Given the description of an element on the screen output the (x, y) to click on. 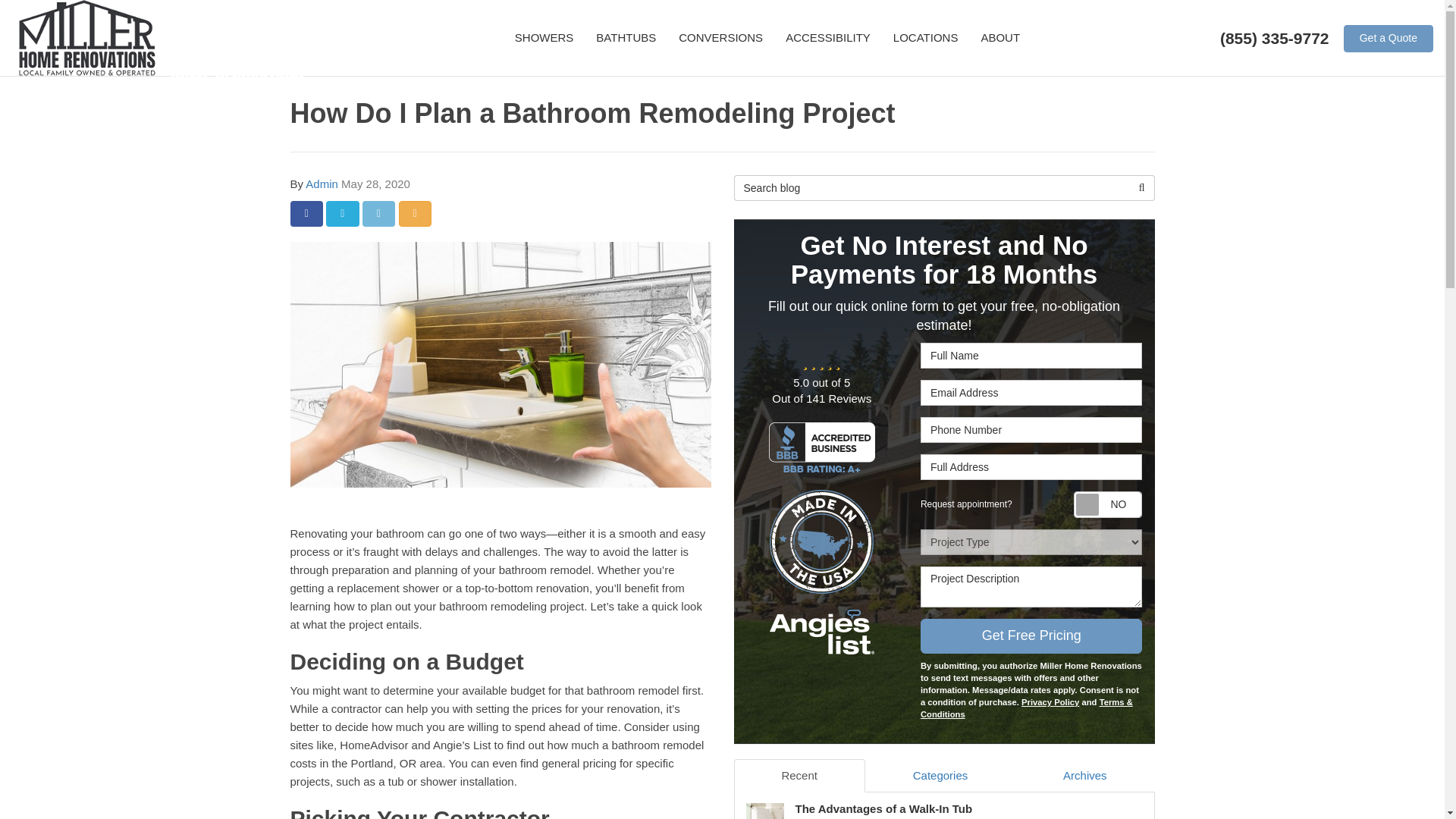
Get a Quote (1387, 38)
SHOWERS (544, 38)
ACCESSIBILITY (828, 38)
CONVERSIONS (720, 38)
Get a Quote (1387, 38)
BATHTUBS (625, 38)
LOCATIONS (925, 38)
